Given the description of an element on the screen output the (x, y) to click on. 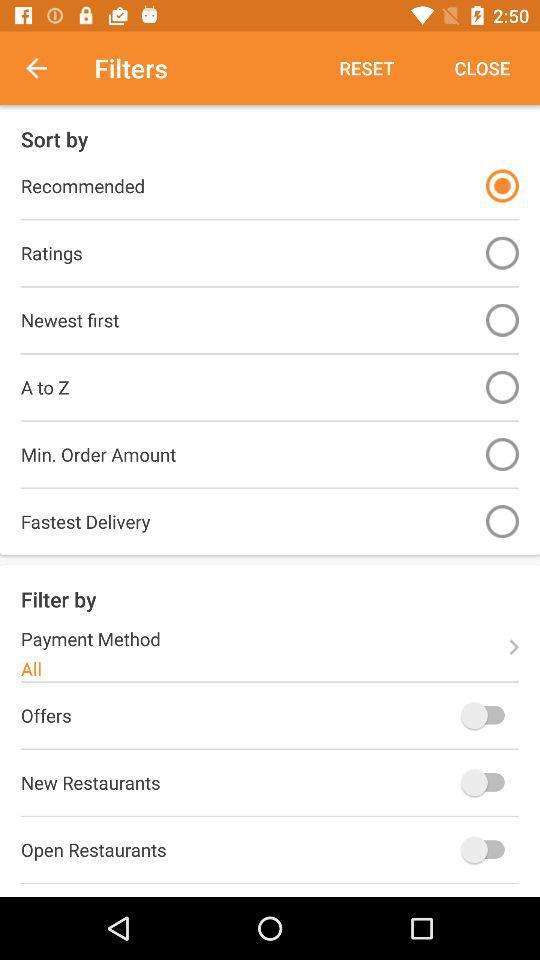
open icon next to a to z (502, 386)
